Given the description of an element on the screen output the (x, y) to click on. 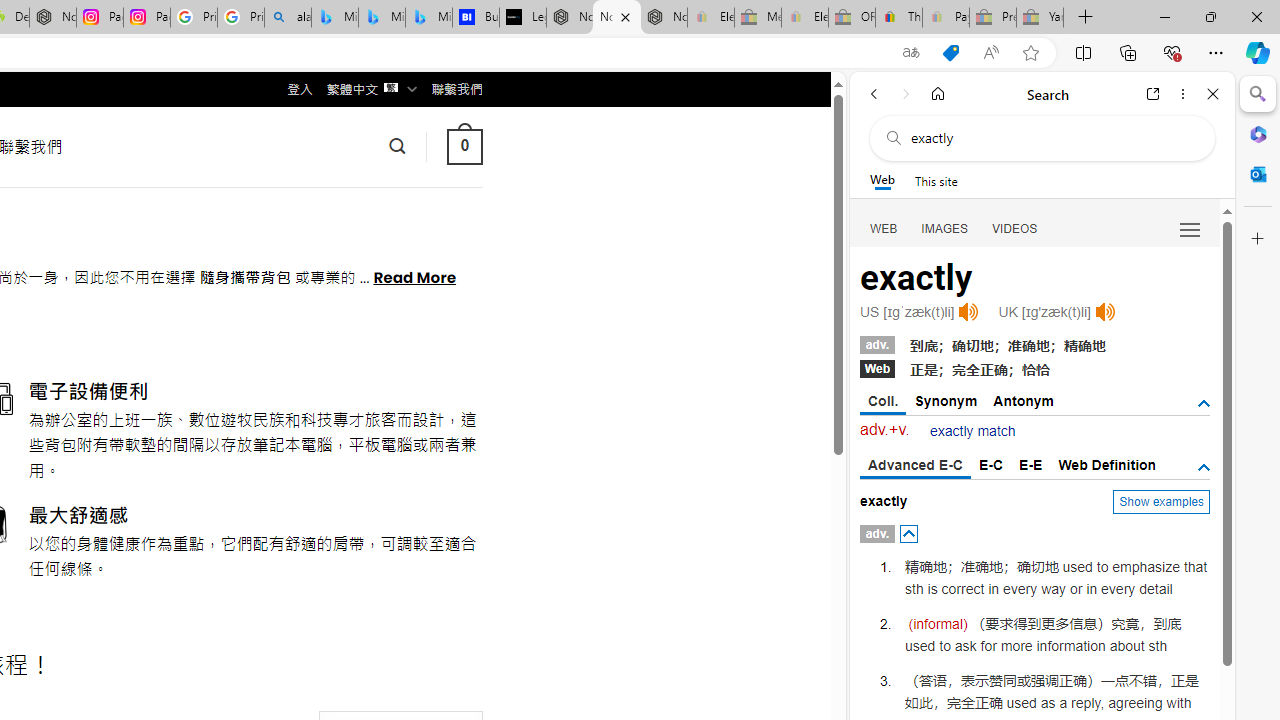
AutomationID: tgdef (1203, 467)
